Given the description of an element on the screen output the (x, y) to click on. 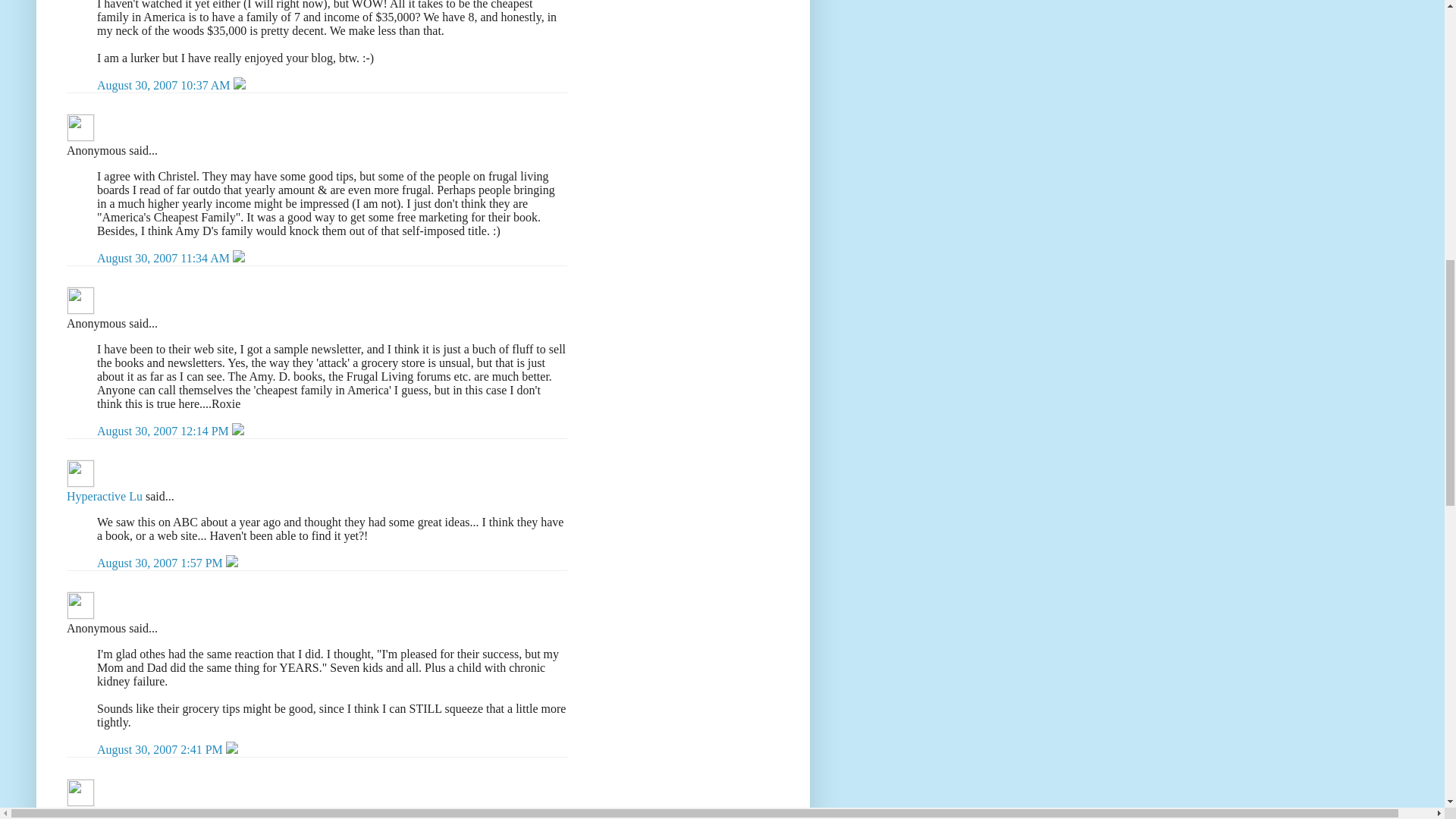
August 30, 2007 2:41 PM (161, 748)
August 30, 2007 11:34 AM (164, 257)
Anonymous (80, 300)
comment permalink (164, 257)
Delete Comment (237, 431)
Delete Comment (239, 84)
August 30, 2007 12:14 PM (164, 431)
comment permalink (164, 84)
Hyperactive Lu (104, 495)
August 30, 2007 10:37 AM (164, 84)
Delete Comment (238, 257)
comment permalink (164, 431)
Anonymous (80, 127)
August 30, 2007 1:57 PM (161, 562)
